Given the description of an element on the screen output the (x, y) to click on. 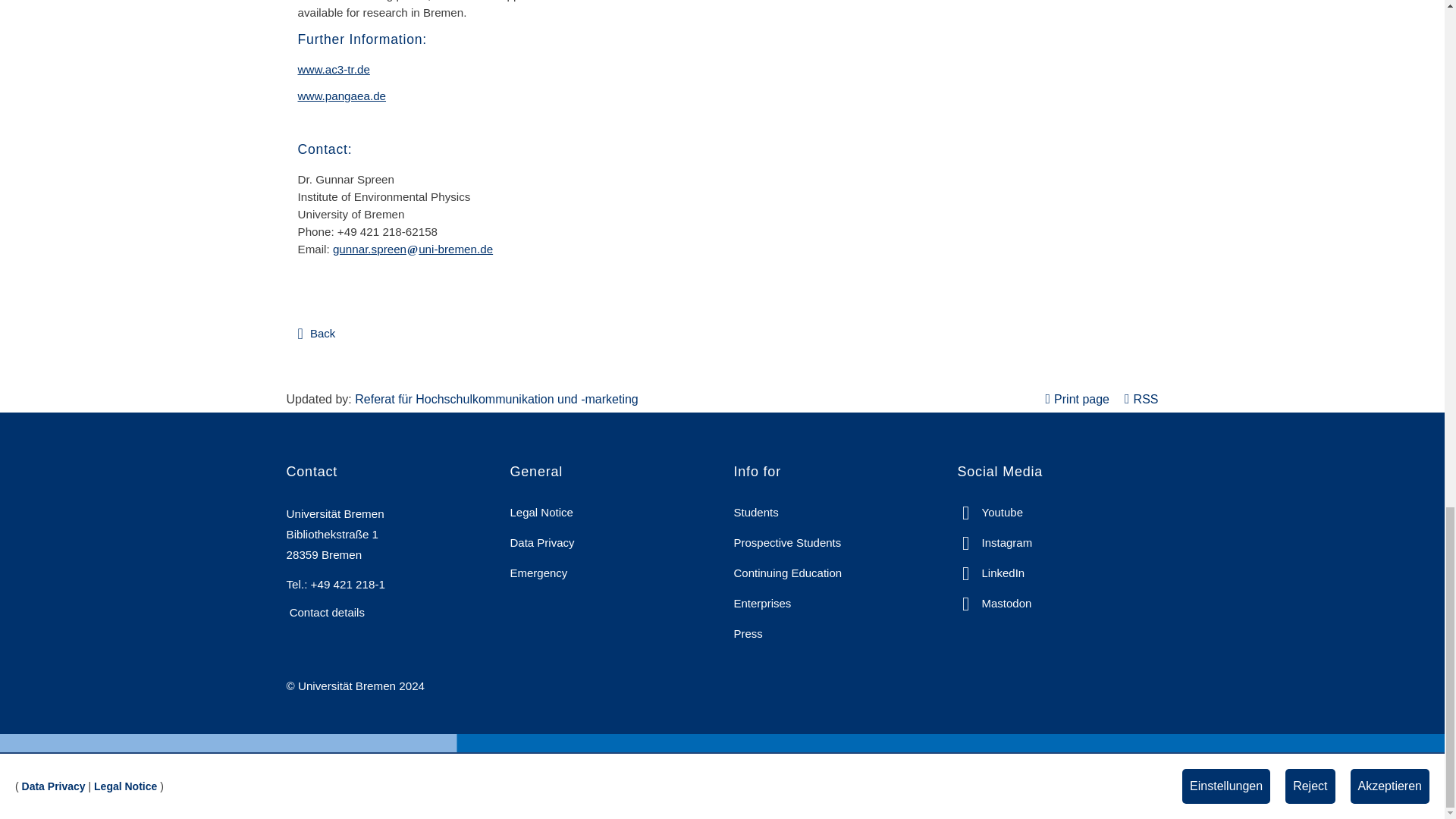
Opens a window for sending an e-mail (413, 248)
Open link to Mastodon in a new window (993, 603)
Seite als RSS Feed (1140, 399)
Open link to Instagram in a new window (994, 542)
Open link to Linked In in a new window (990, 572)
